Given the description of an element on the screen output the (x, y) to click on. 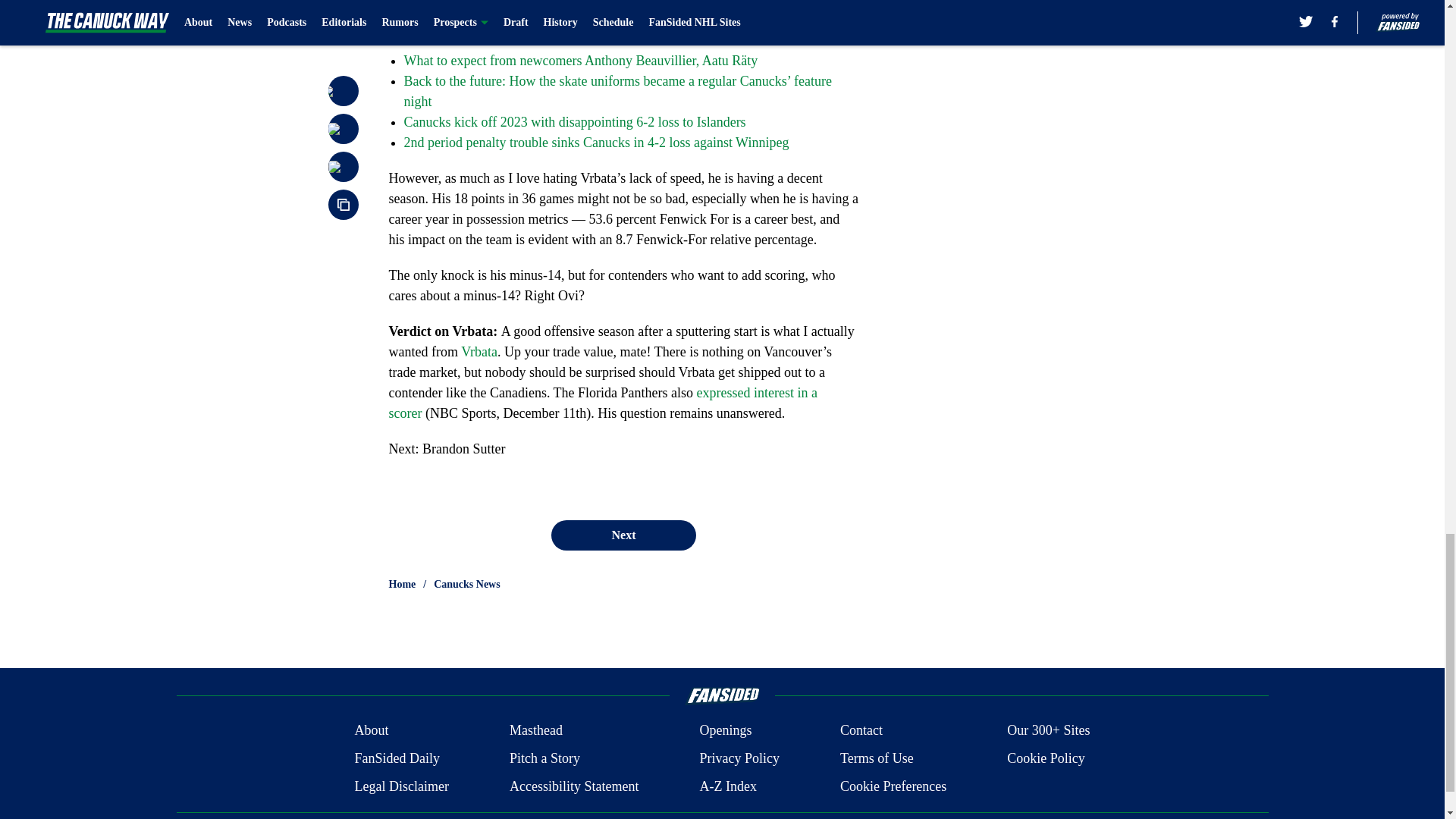
expressed interest in a scorer (602, 402)
Next (622, 535)
Canucks News (466, 583)
Home (401, 583)
Vrbata (479, 351)
Which team won the Bo Horvat trade? (508, 38)
About (370, 730)
